Given the description of an element on the screen output the (x, y) to click on. 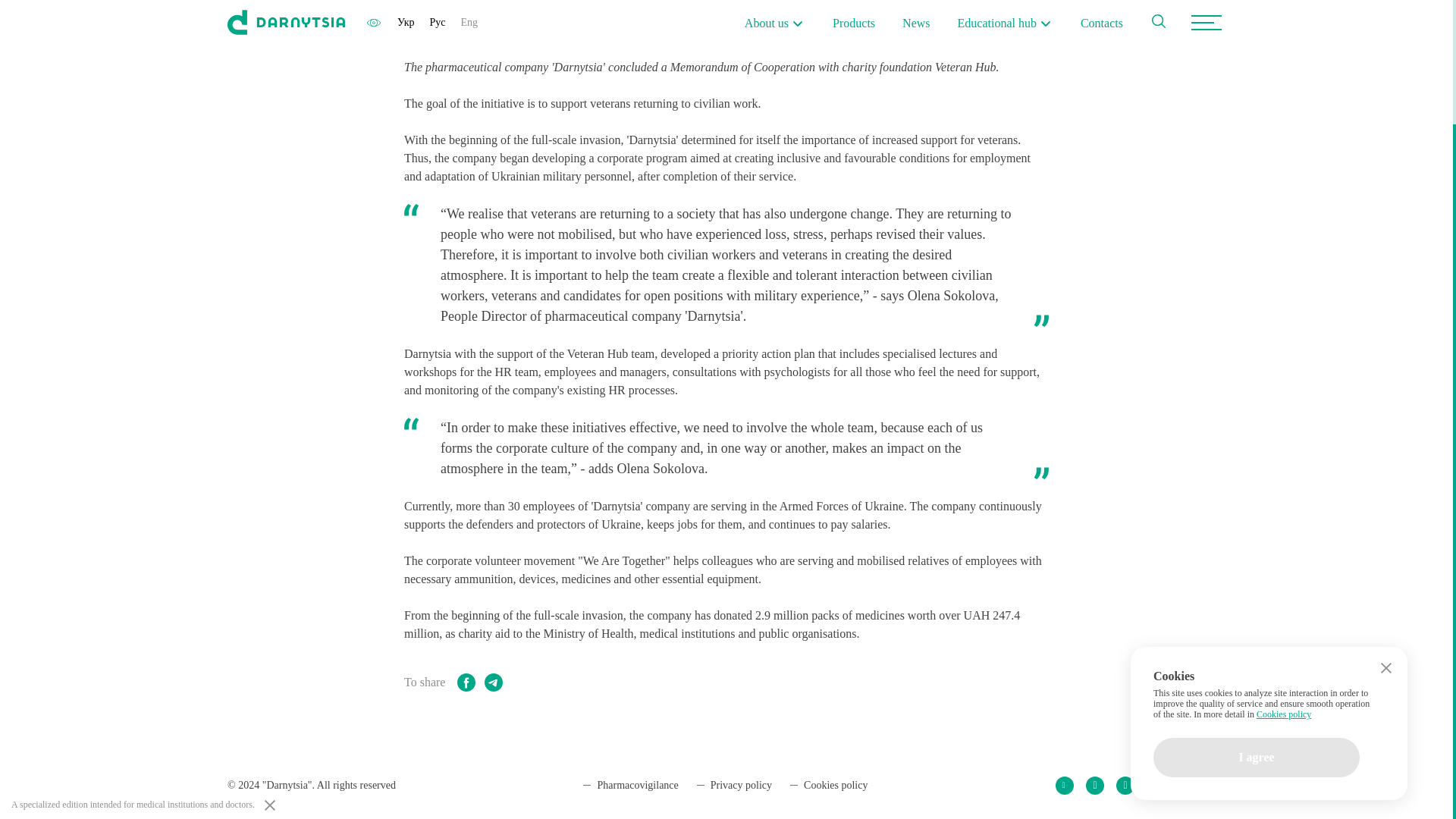
Cookies policy (1283, 567)
I agree (1256, 610)
